Given the description of an element on the screen output the (x, y) to click on. 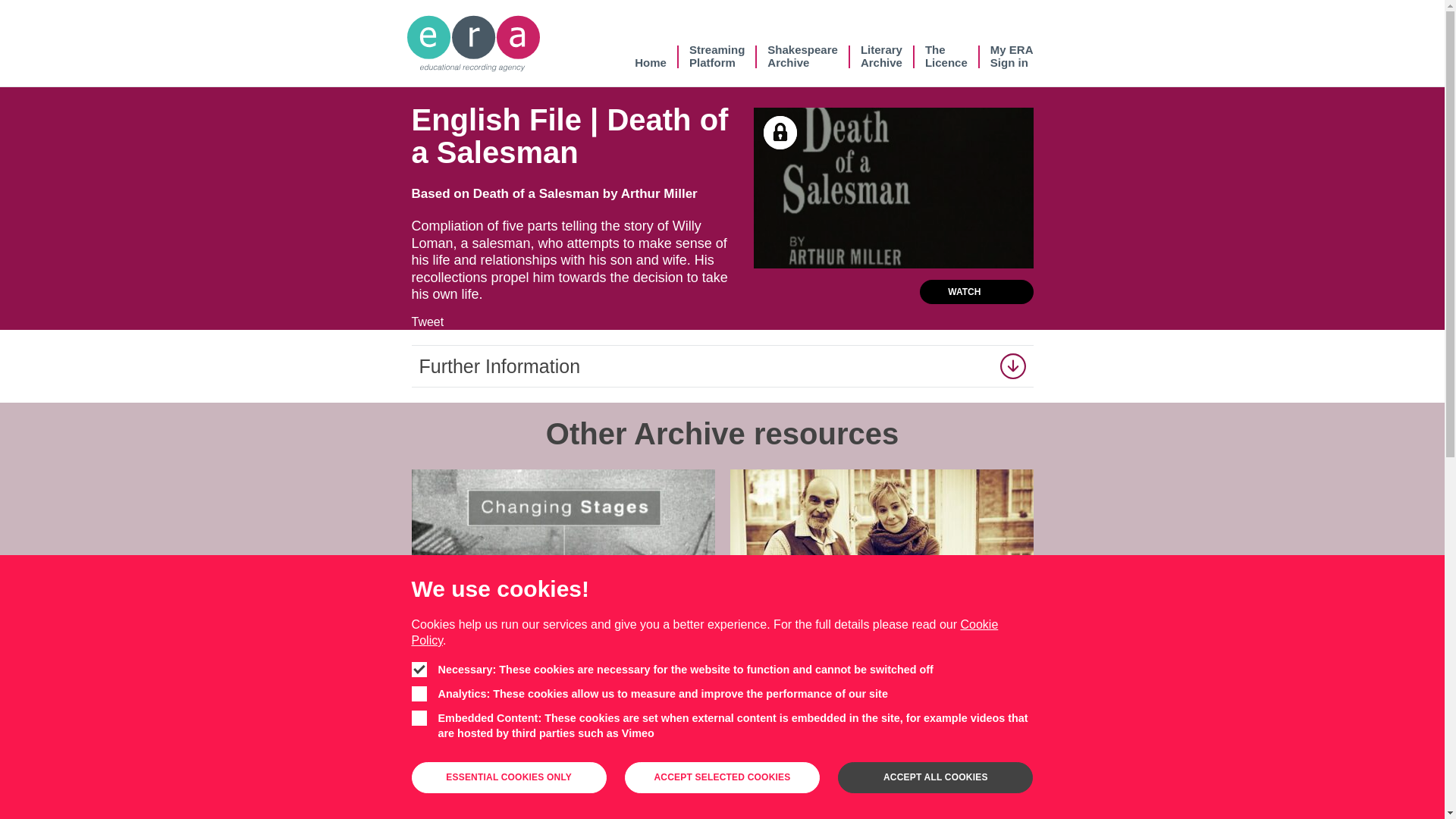
Home (650, 56)
Tweet (881, 56)
